Given the description of an element on the screen output the (x, y) to click on. 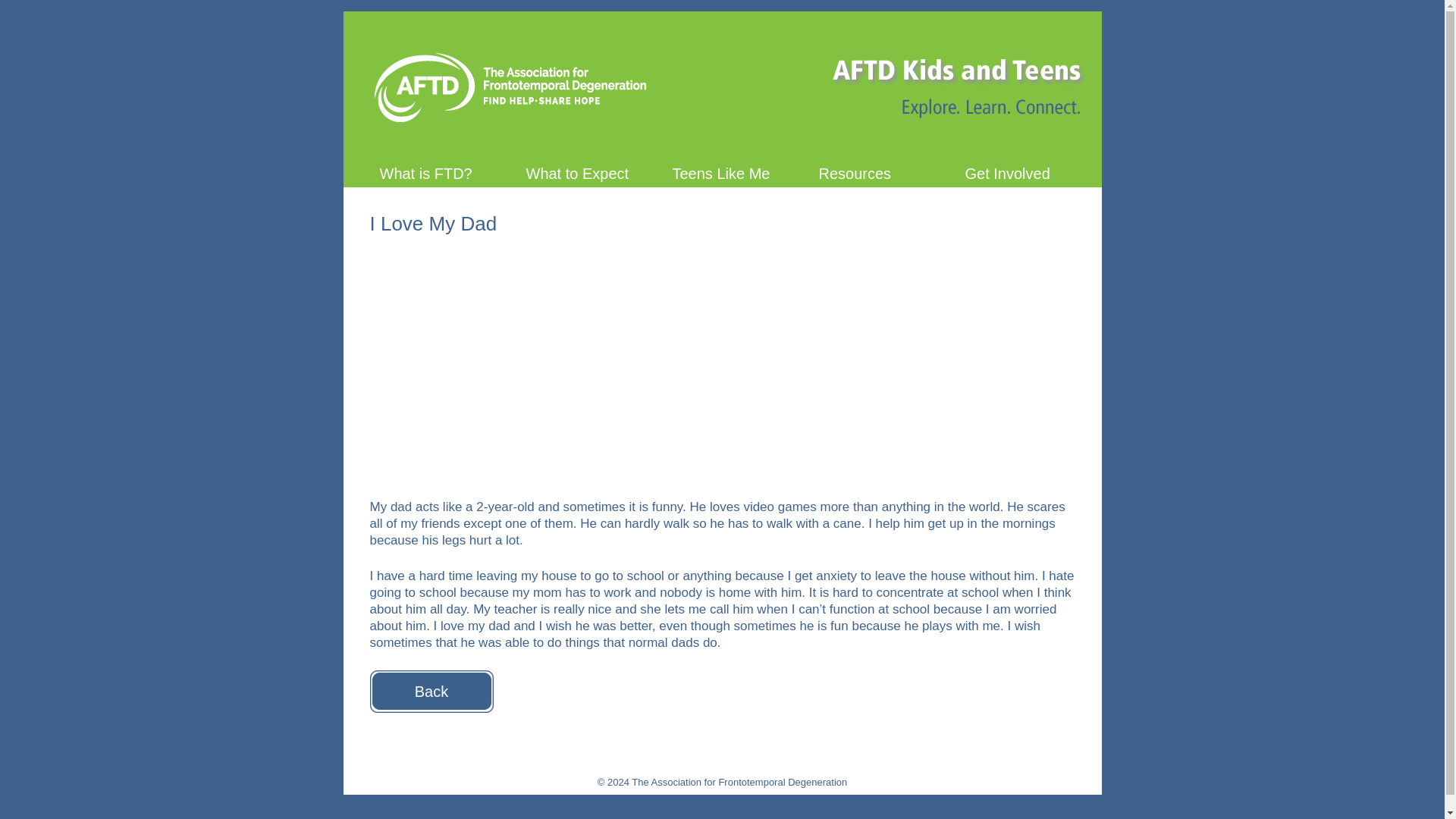
Get Involved (1016, 170)
Resources (869, 170)
Back (431, 691)
What is FTD? (431, 170)
Teens Like Me (724, 170)
What to Expect (577, 170)
